Given the description of an element on the screen output the (x, y) to click on. 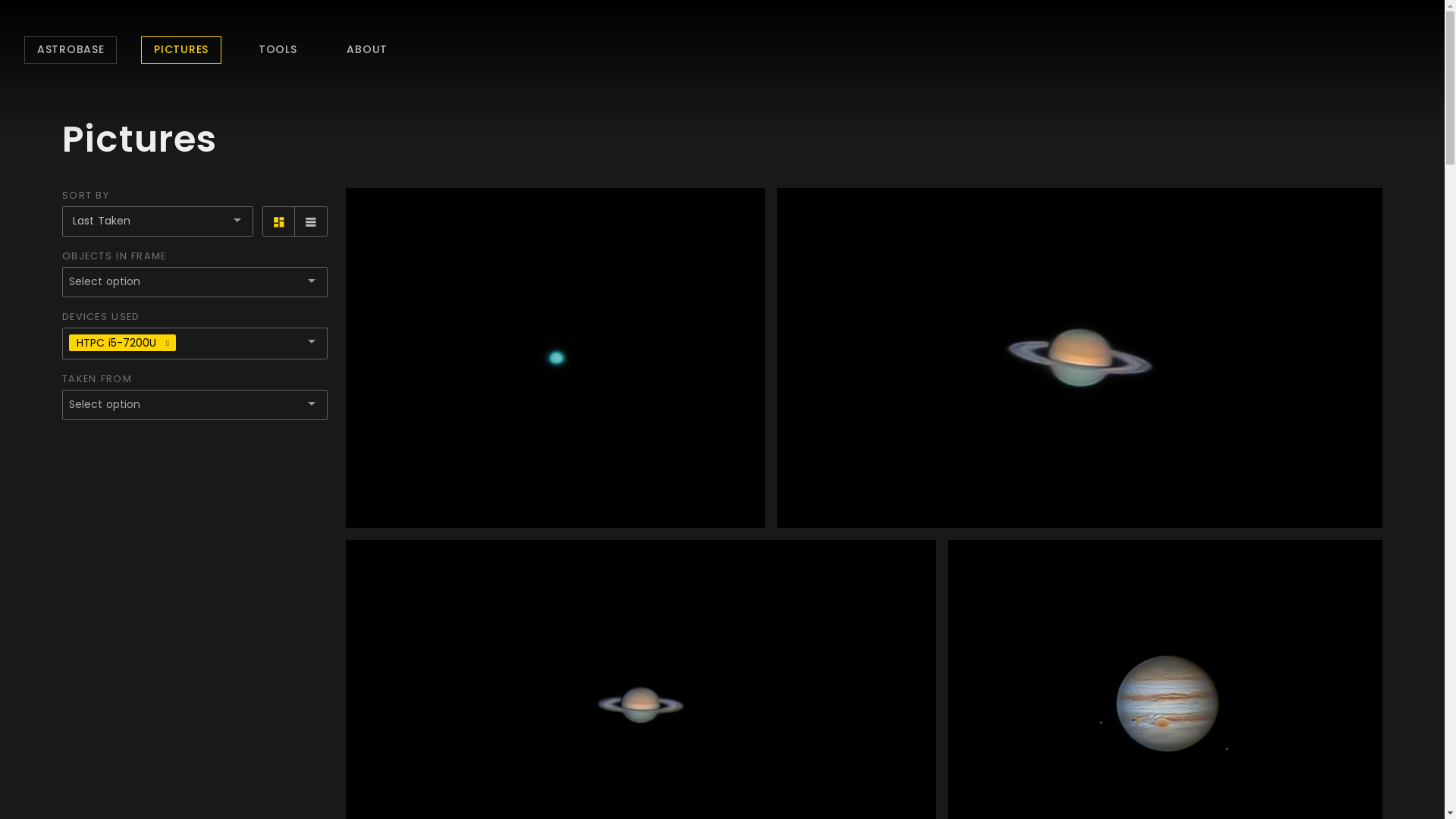
ASTROBASE Element type: text (70, 49)
PICTURES Element type: text (181, 49)
TOOLS Element type: text (277, 49)
ABOUT Element type: text (366, 49)
